Given the description of an element on the screen output the (x, y) to click on. 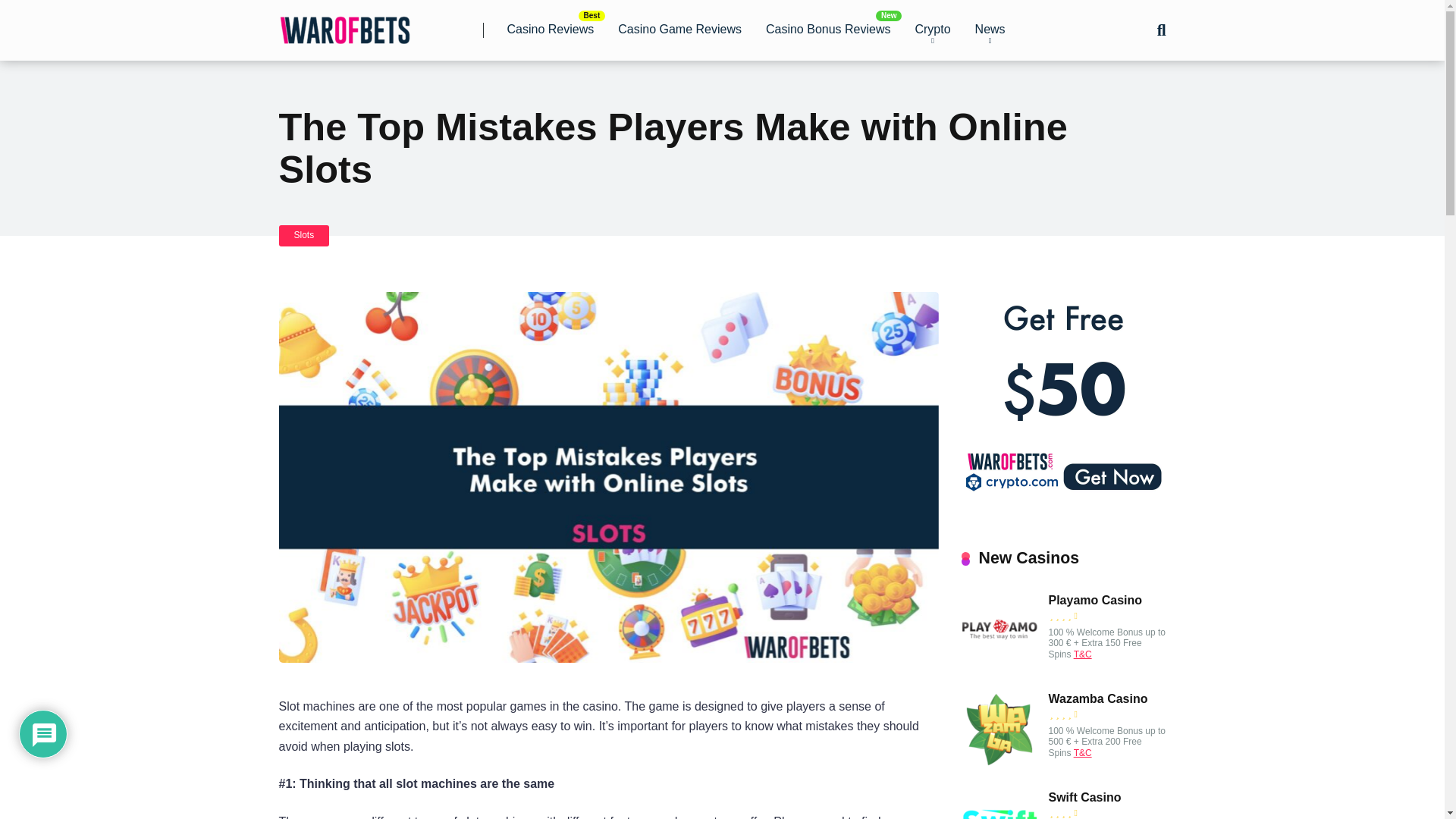
News (989, 30)
Casino Reviews (550, 30)
Slots (304, 235)
Casino Bonus Reviews (828, 30)
Warofbets (344, 24)
Casino Game Reviews (679, 30)
Crypto (932, 30)
